Given the description of an element on the screen output the (x, y) to click on. 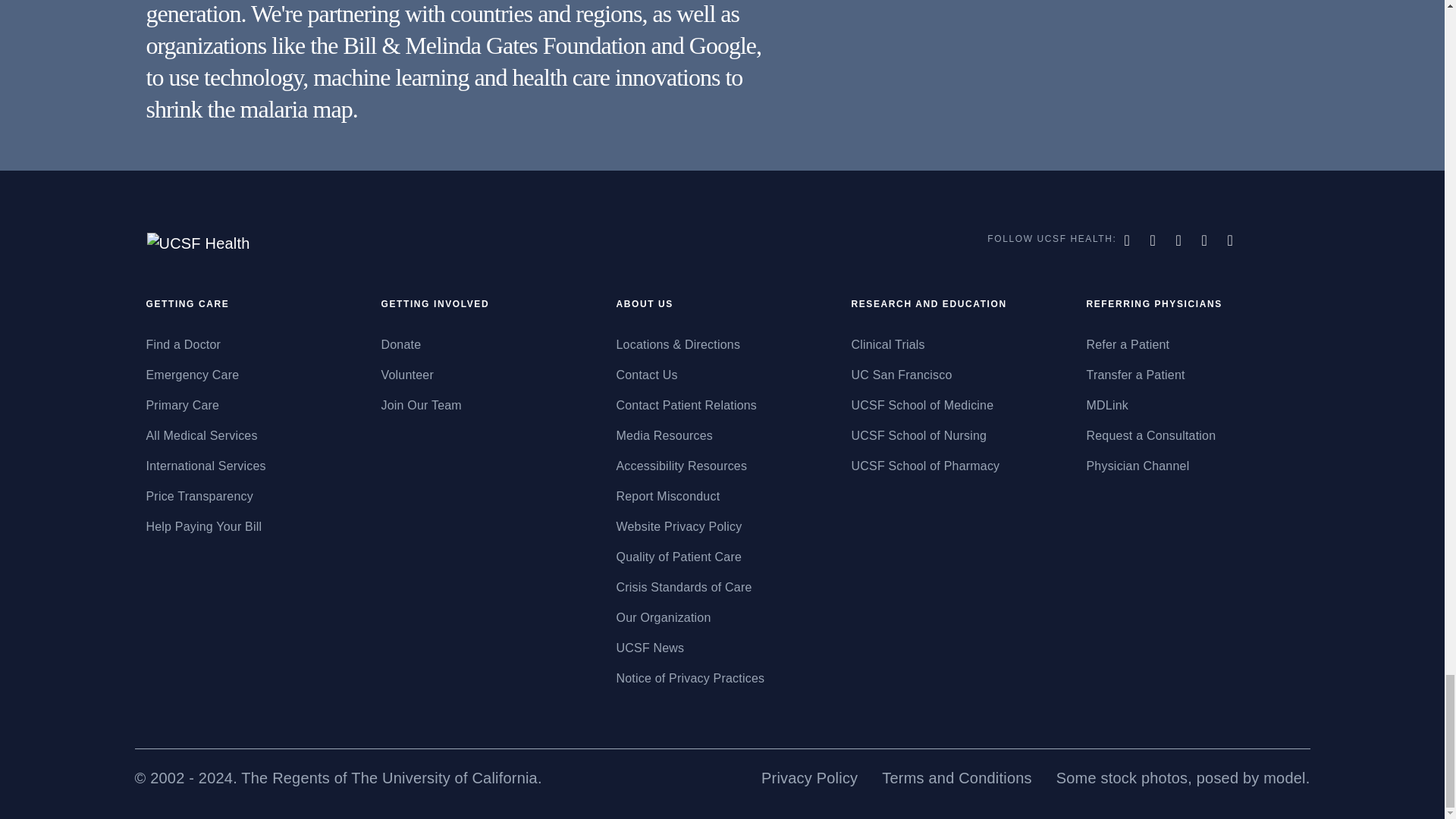
UCSF School of Nursing (956, 435)
Instagram (1206, 239)
Quality of Patient Care (721, 556)
Linkedin (1232, 239)
Facebook (1128, 239)
X (1154, 239)
Volunteer (486, 375)
Emergency Care (251, 375)
UC San Francisco (956, 375)
Primary Care (251, 405)
